Given the description of an element on the screen output the (x, y) to click on. 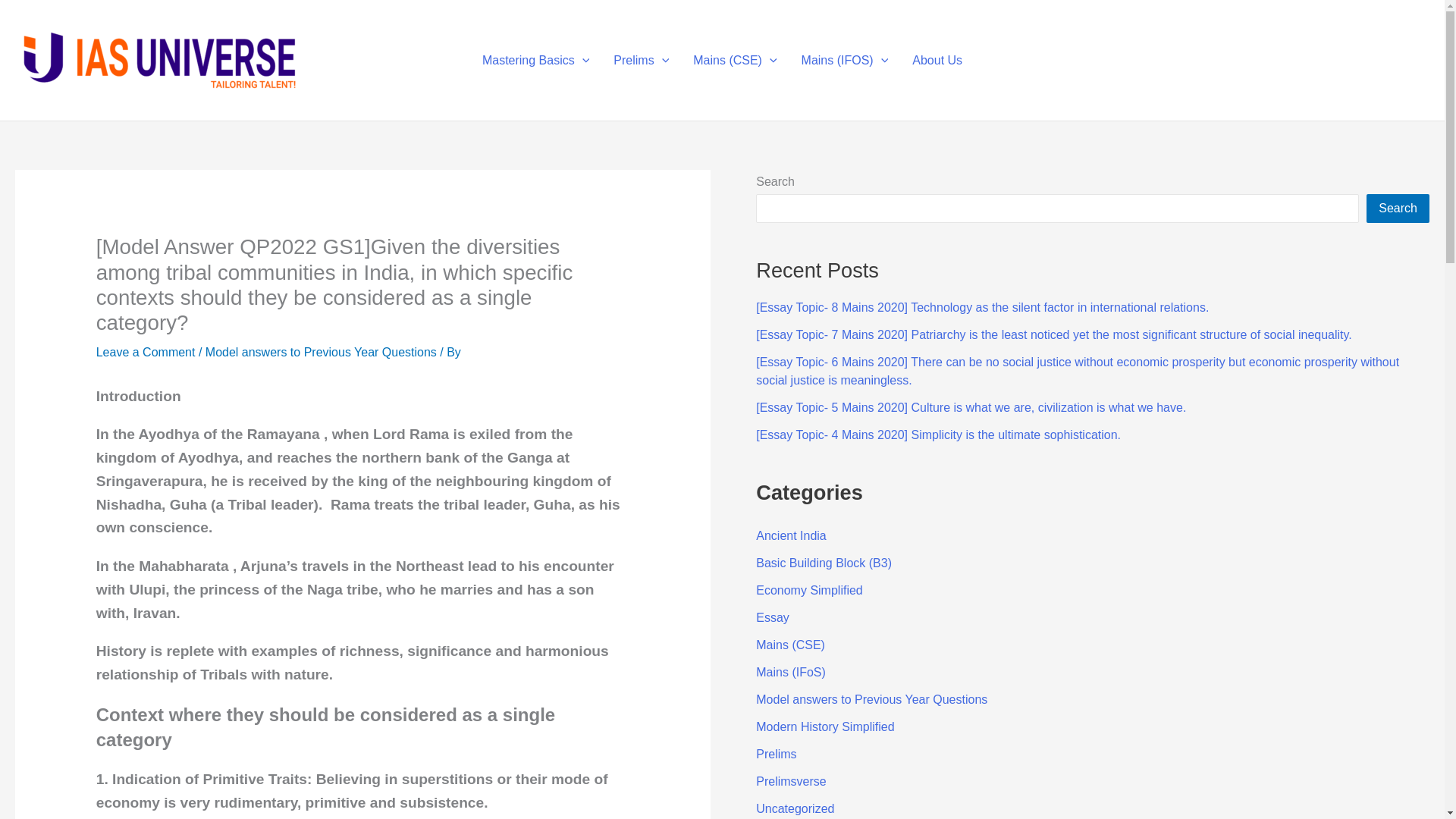
Prelims (641, 60)
Mastering Basics (535, 60)
About Us (936, 60)
